Given the description of an element on the screen output the (x, y) to click on. 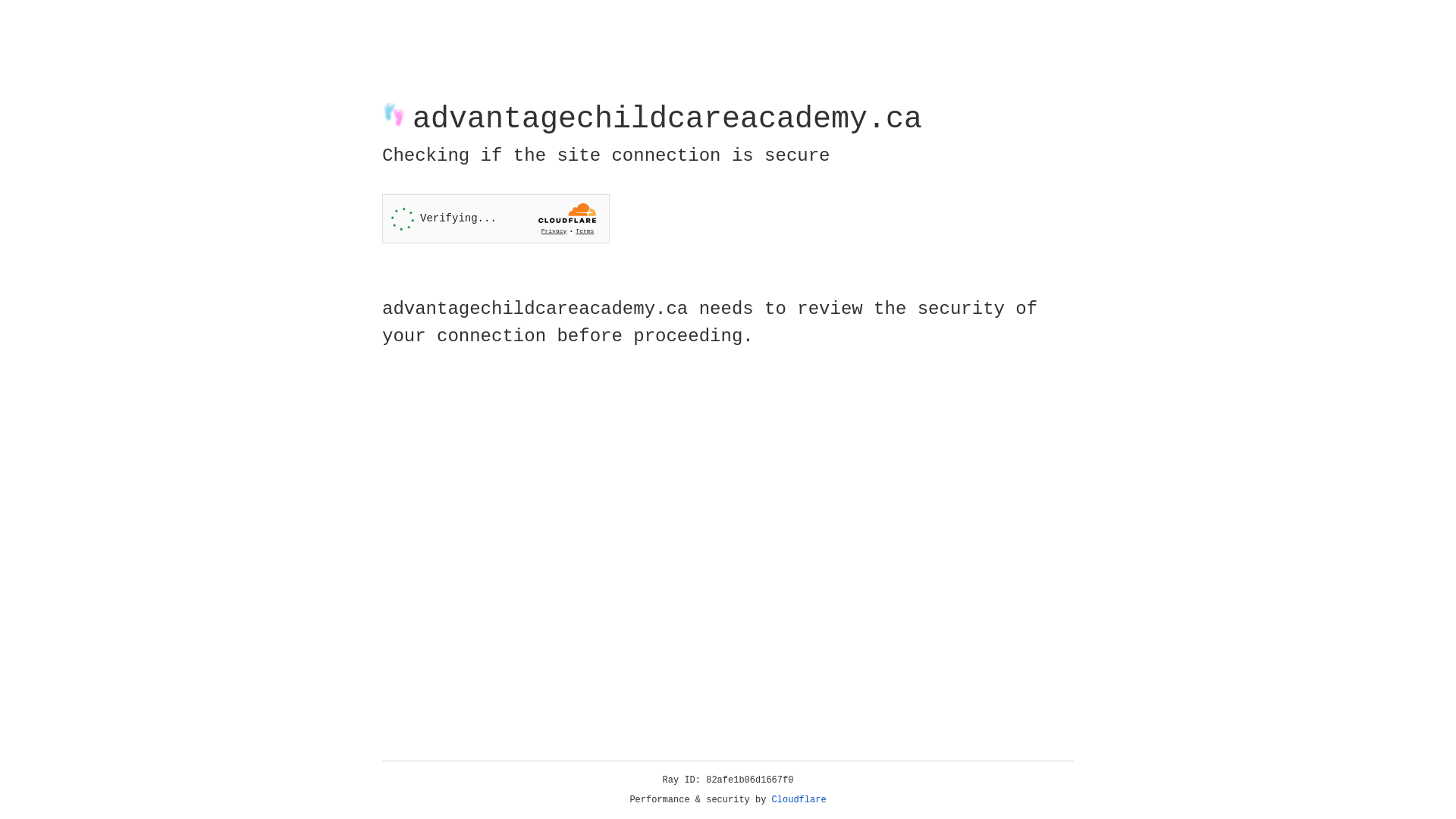
Widget containing a Cloudflare security challenge Element type: hover (495, 218)
Cloudflare Element type: text (798, 799)
